Given the description of an element on the screen output the (x, y) to click on. 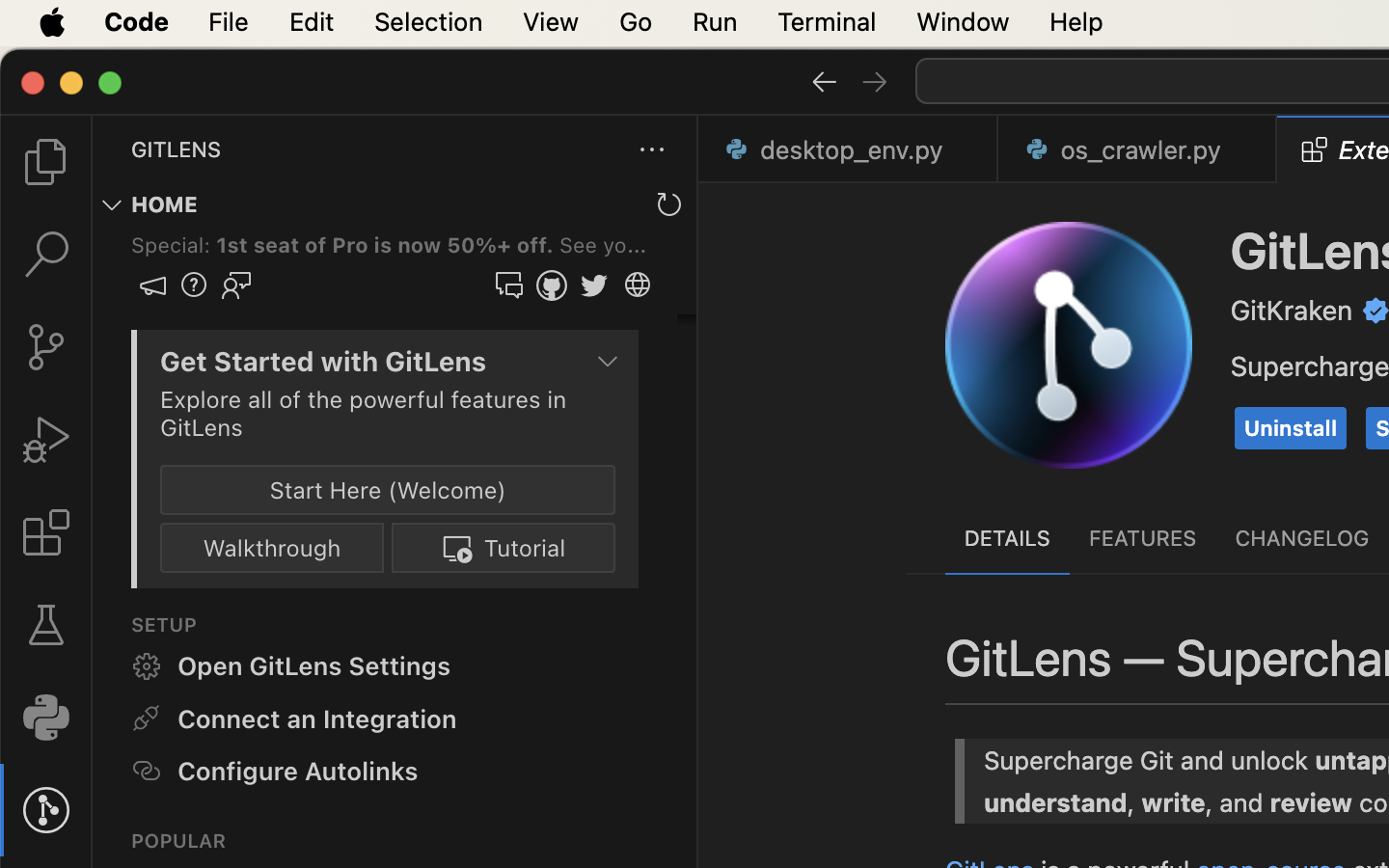
 Element type: AXGroup (46, 161)
and Element type: AXStaticText (1013, 671)
untapped knowledge Element type: AXStaticText (1229, 360)
 Element type: AXButton (874, 80)
EXTENSIONS: MARKETPLACE Element type: AXStaticText (282, 149)
